Given the description of an element on the screen output the (x, y) to click on. 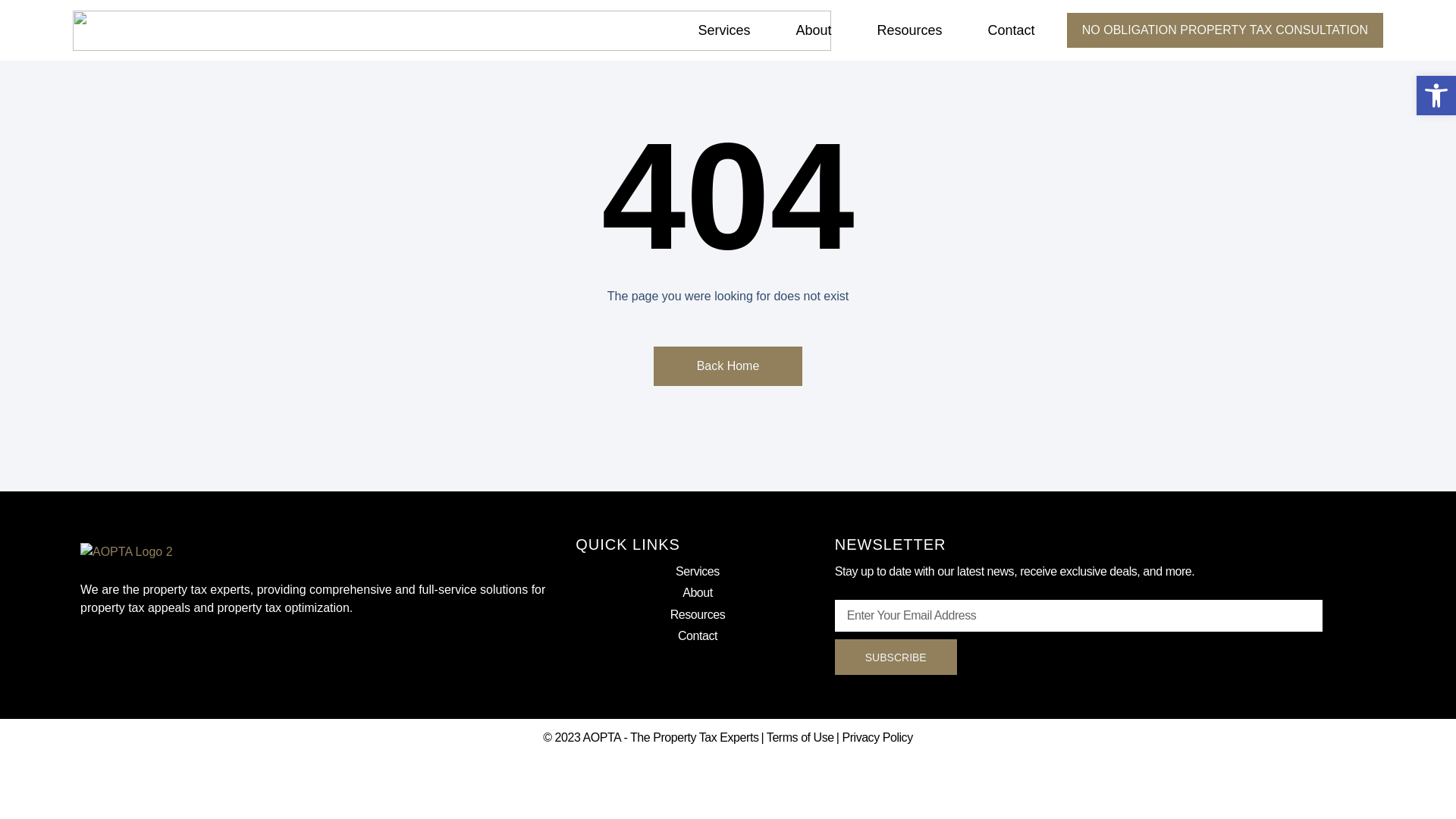
About (697, 592)
Back Home (728, 365)
NO OBLIGATION PROPERTY TAX CONSULTATION (1225, 30)
Services (697, 571)
Services (723, 29)
Resources (697, 614)
Accessibility Tools (1435, 95)
About (812, 29)
Resources (909, 29)
Contact (697, 636)
Contact (1010, 29)
